Given the description of an element on the screen output the (x, y) to click on. 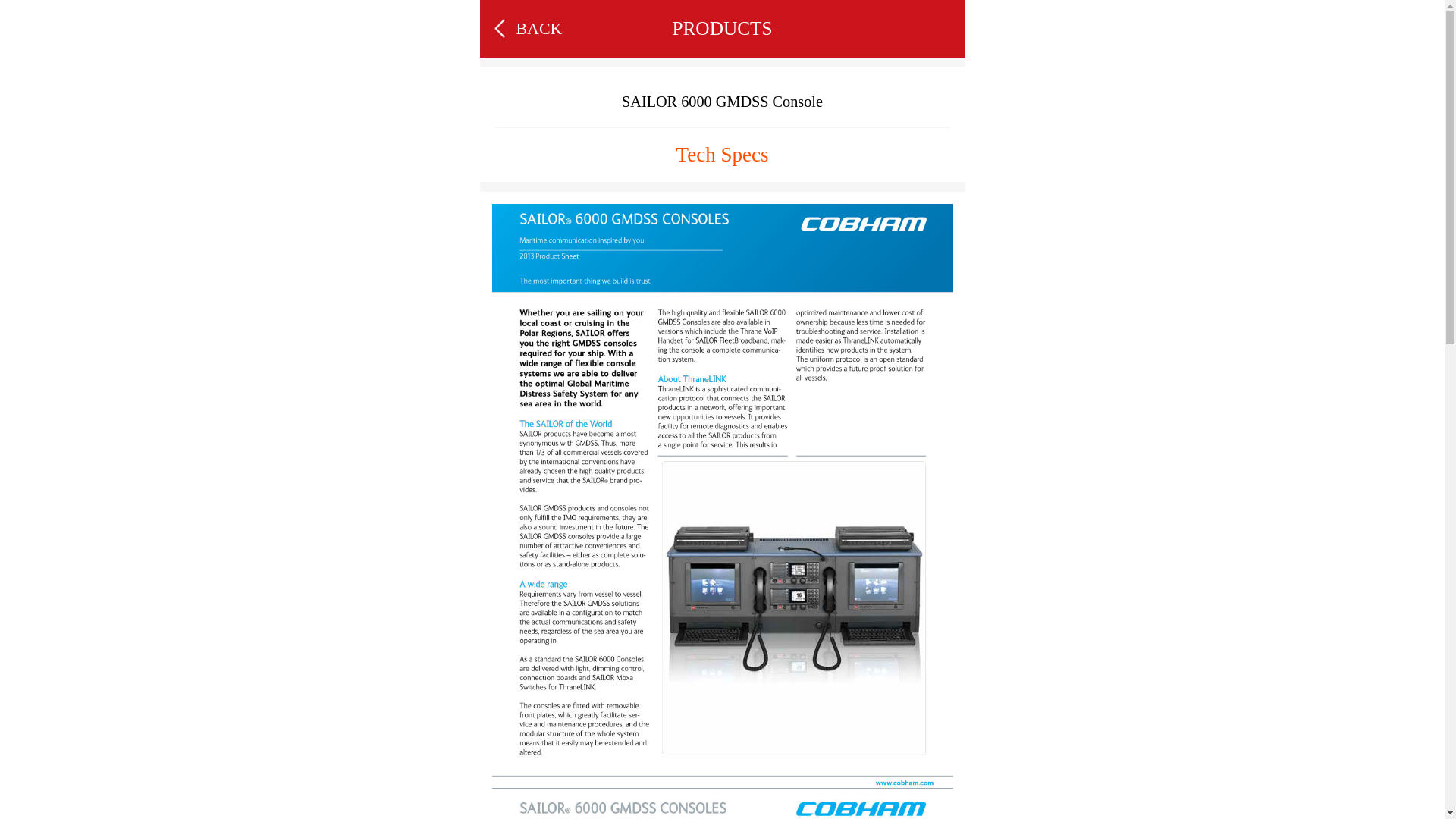
01 SAILOR 6000 GMDSS Console Element type: hover (721, 495)
BACK Element type: text (538, 27)
PRODUCTS Element type: text (721, 27)
